Given the description of an element on the screen output the (x, y) to click on. 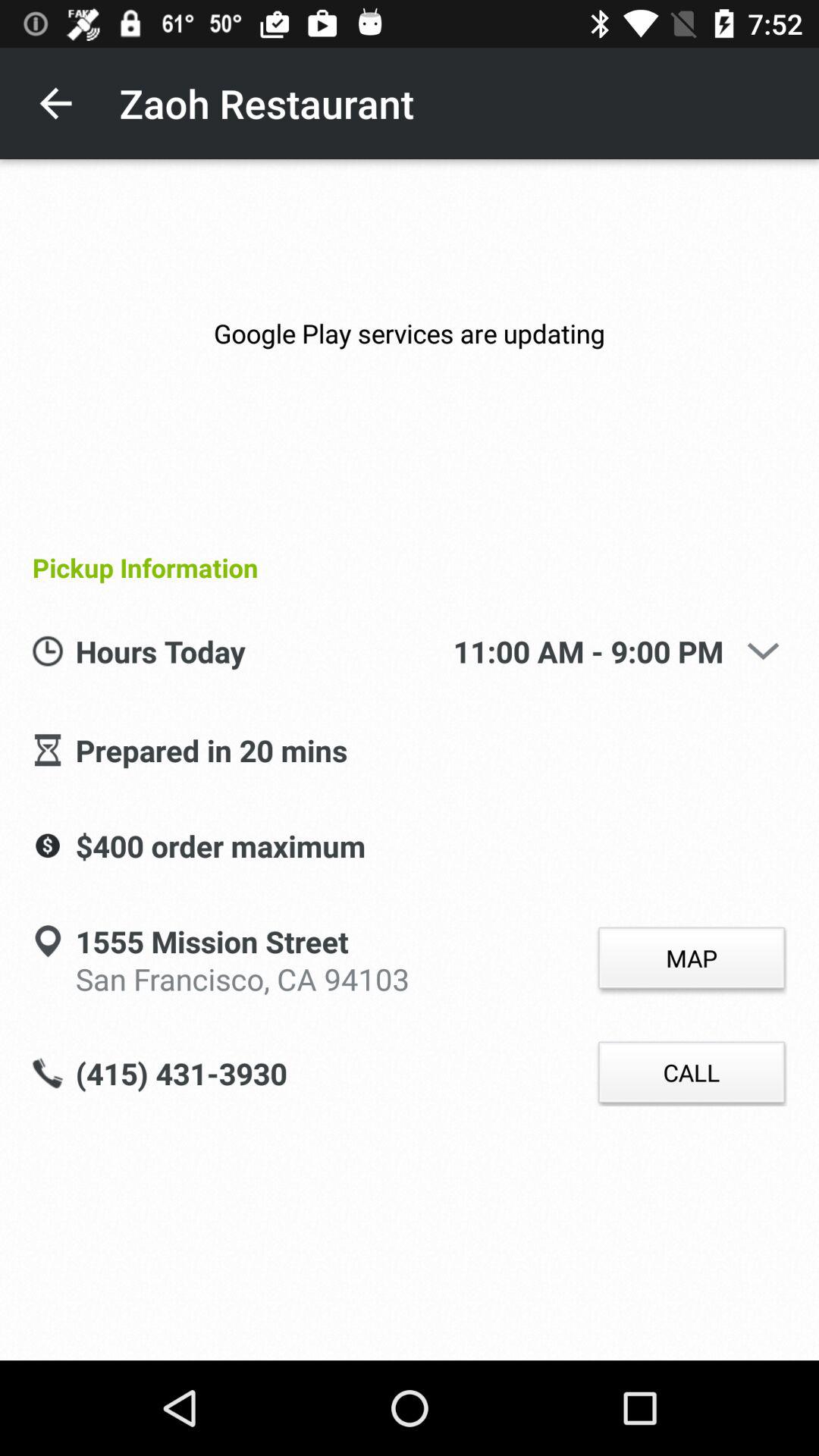
click item above the google play services (55, 103)
